Given the description of an element on the screen output the (x, y) to click on. 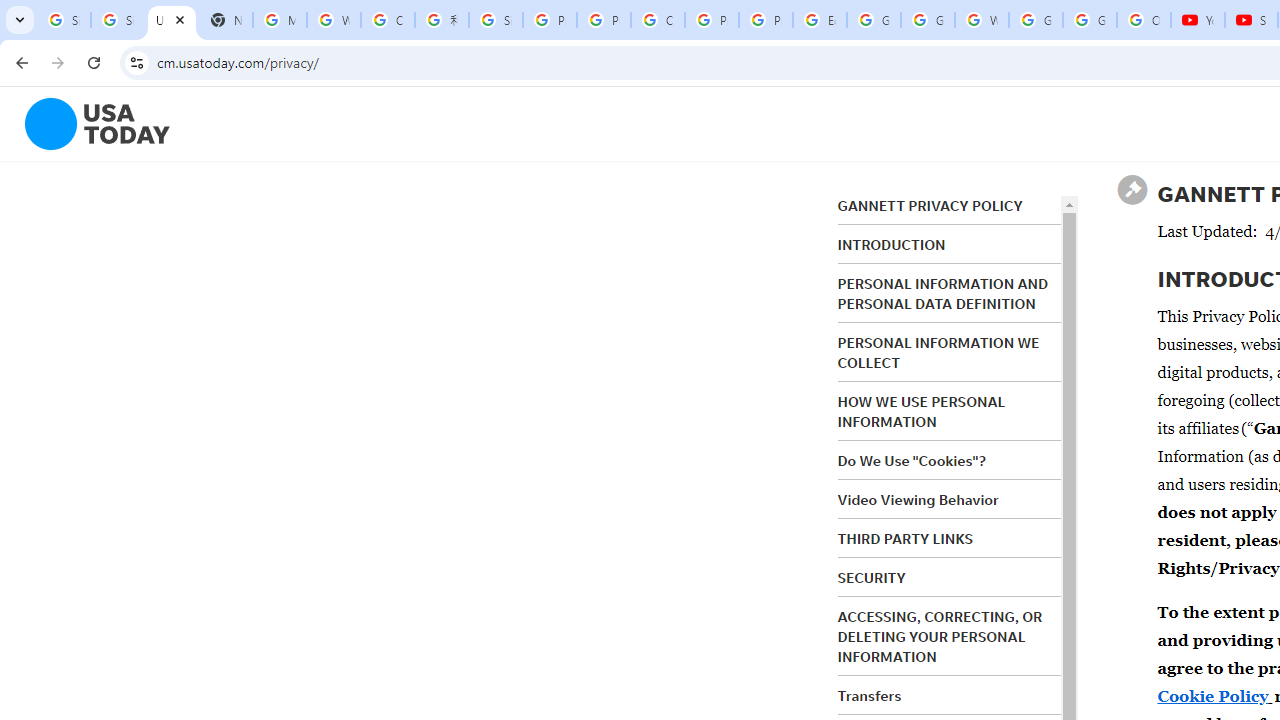
Sign in - Google Accounts (495, 20)
THIRD PARTY LINKS (905, 538)
HOW WE USE PERSONAL INFORMATION (921, 412)
Transfers (869, 695)
Create your Google Account (657, 20)
PERSONAL INFORMATION WE COLLECT (938, 353)
SECURITY (871, 577)
